Given the description of an element on the screen output the (x, y) to click on. 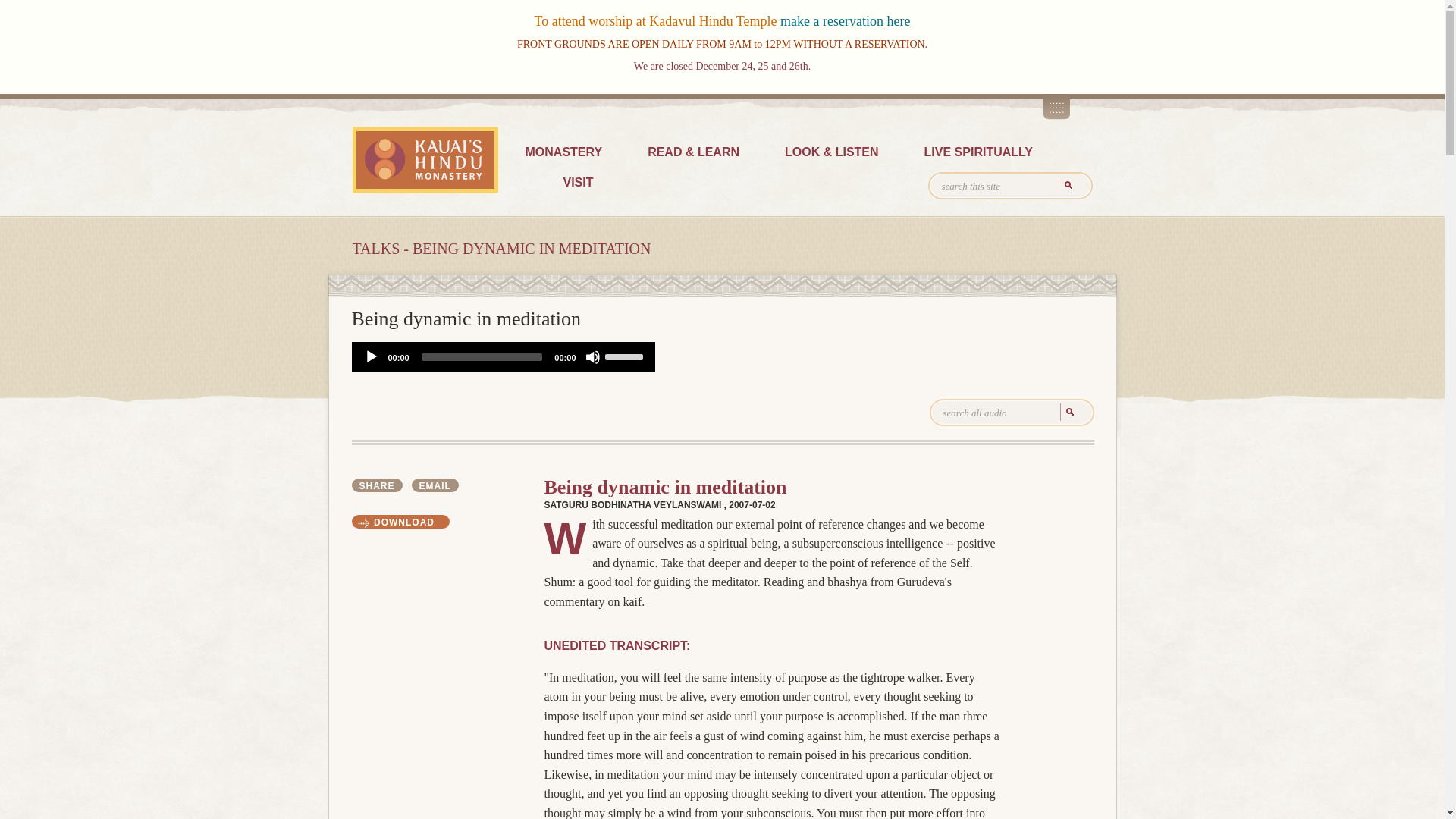
Play (371, 356)
Expand Our Network Menu (1056, 106)
To attend worship at Kadavul Hindu Temple (657, 20)
make a reservation here (845, 20)
Mute (592, 356)
MONASTERY (563, 152)
KAUAI'S HINDU MONASTERY (424, 159)
Related Sites (1056, 106)
search this site (1010, 185)
